Given the description of an element on the screen output the (x, y) to click on. 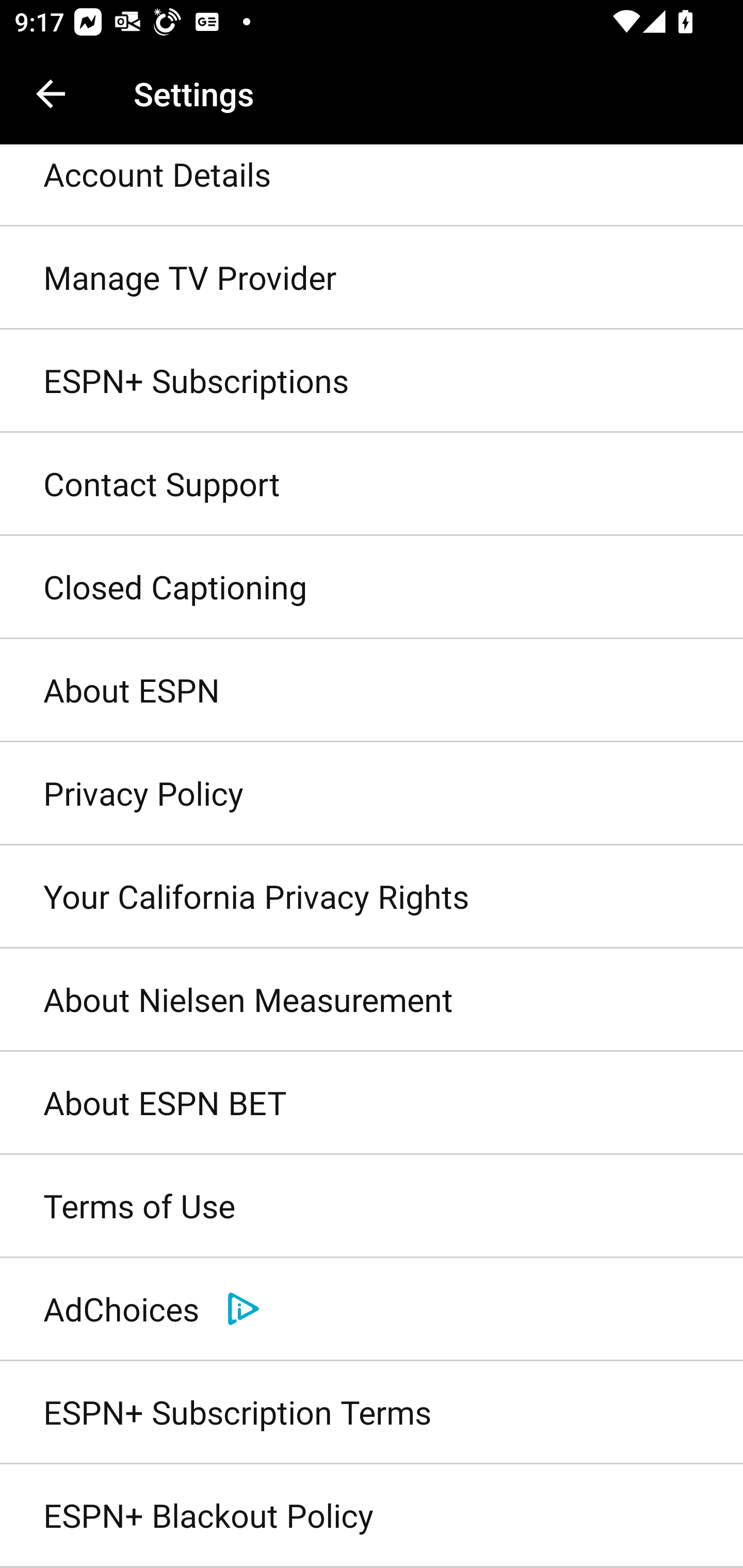
Navigate up (50, 93)
Account Details (371, 185)
Manage TV Provider (371, 277)
ESPN+ Subscriptions (371, 380)
Contact Support (371, 484)
Closed Captioning (371, 587)
About ESPN (371, 691)
Privacy Policy (371, 793)
Your California Privacy Rights (371, 896)
About Nielsen Measurement (371, 1000)
About ESPN BET (371, 1103)
Terms of Use (371, 1207)
AdChoices (371, 1309)
ESPN+ Subscription Terms (371, 1412)
ESPN+ Blackout Policy (371, 1516)
